Given the description of an element on the screen output the (x, y) to click on. 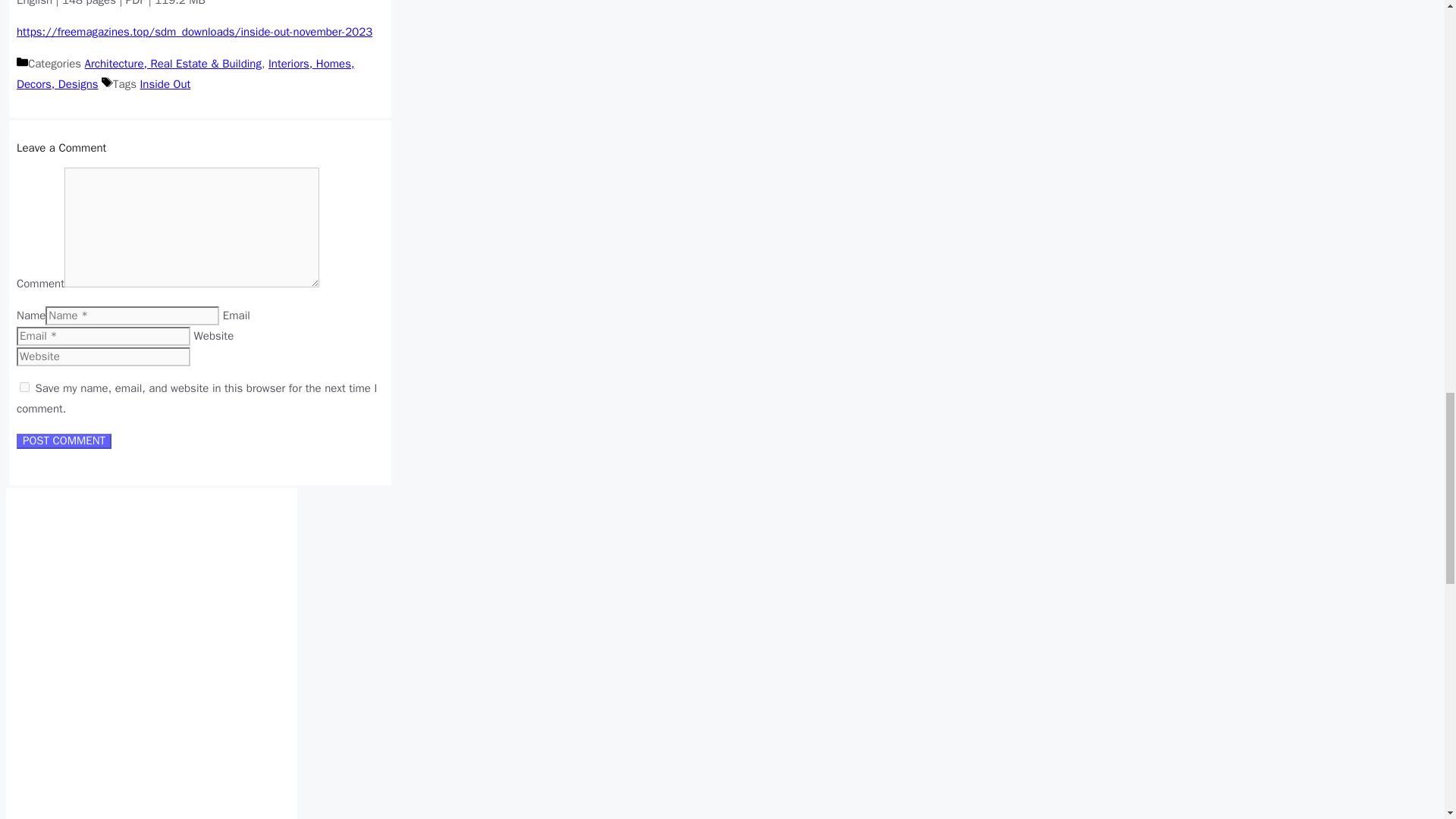
Post Comment (64, 441)
yes (24, 387)
